Given the description of an element on the screen output the (x, y) to click on. 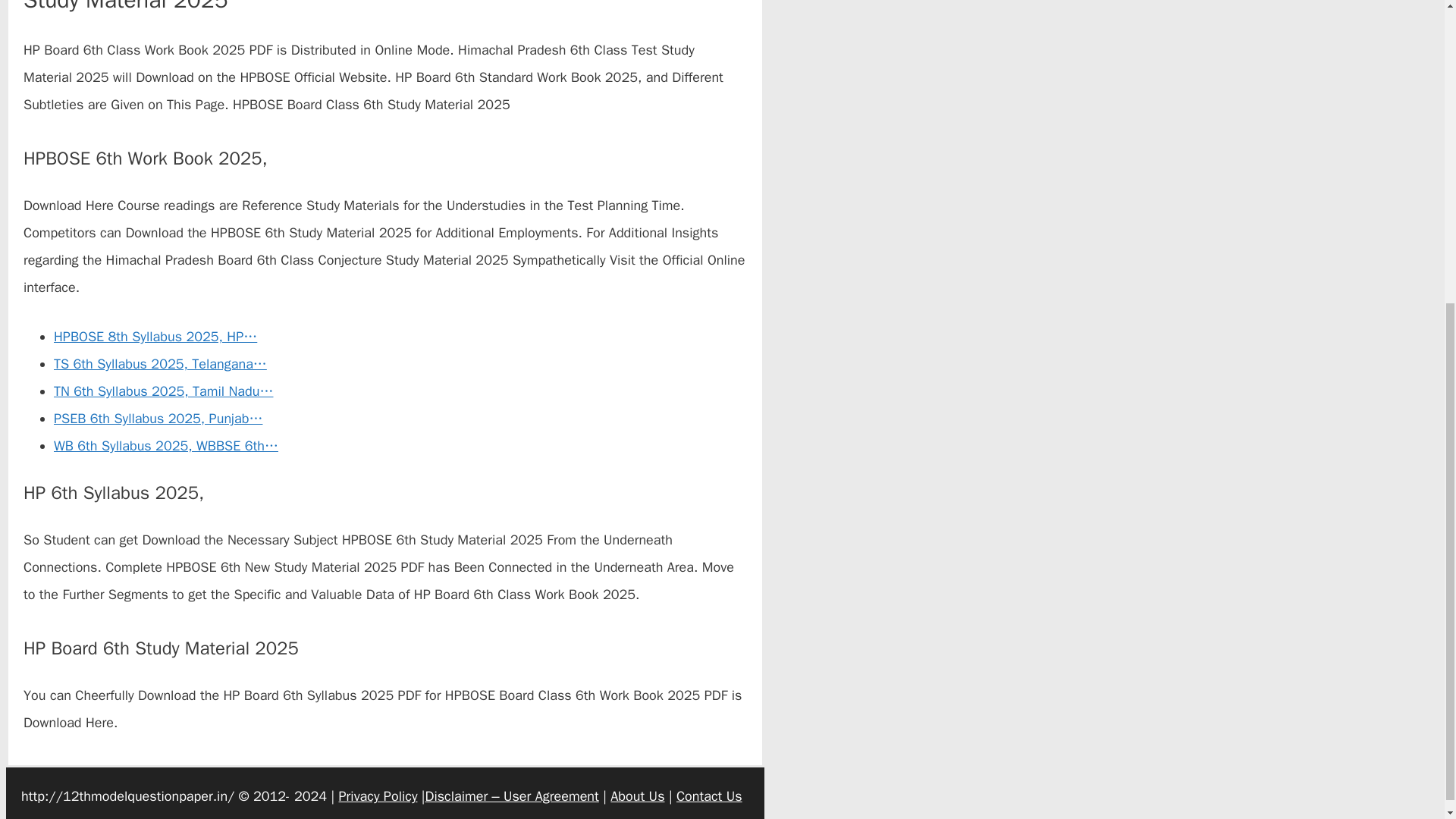
About Us (636, 795)
Contact Us (709, 795)
Privacy Policy (378, 795)
